Given the description of an element on the screen output the (x, y) to click on. 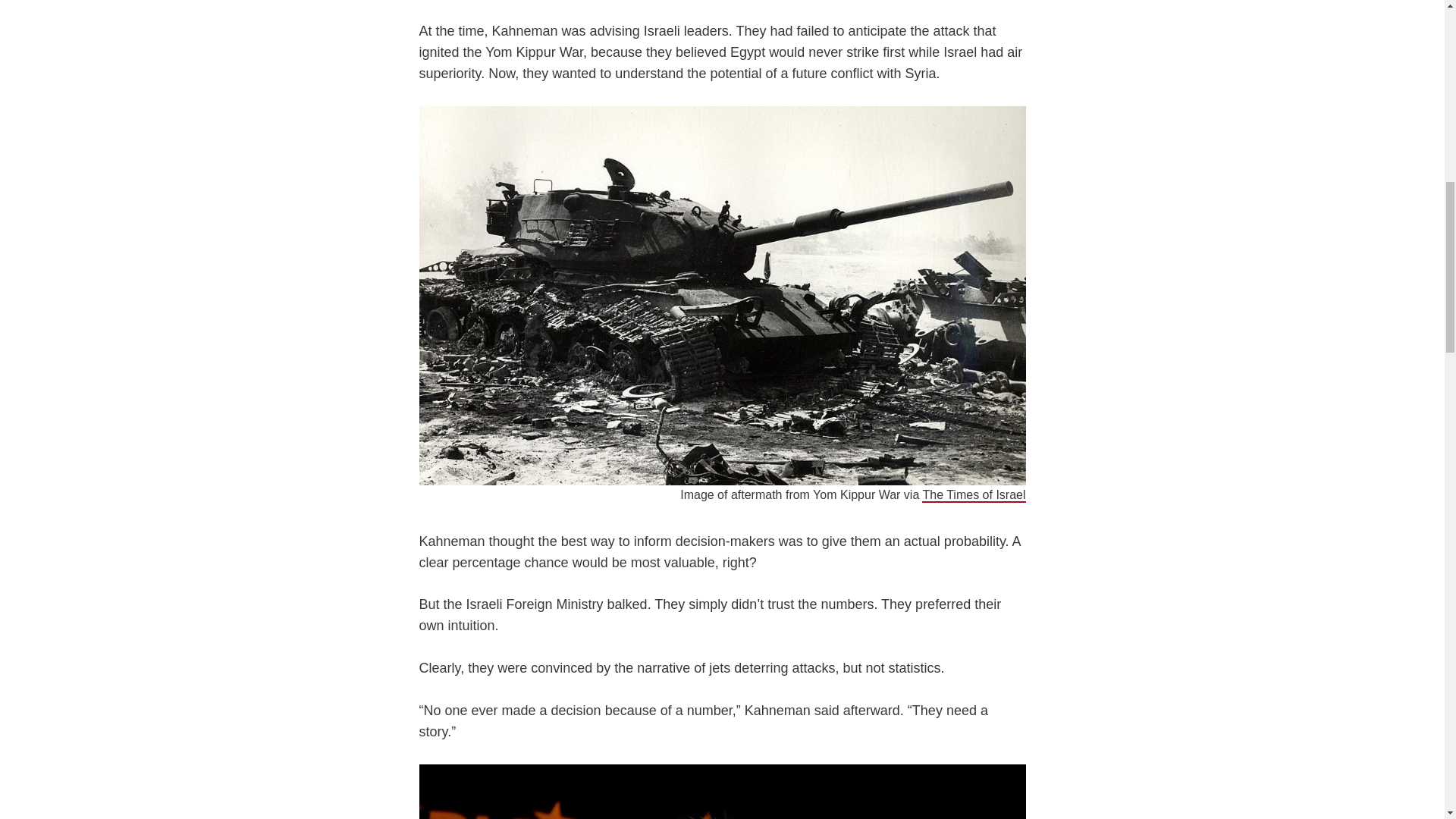
The Times of Israel (973, 495)
